Given the description of an element on the screen output the (x, y) to click on. 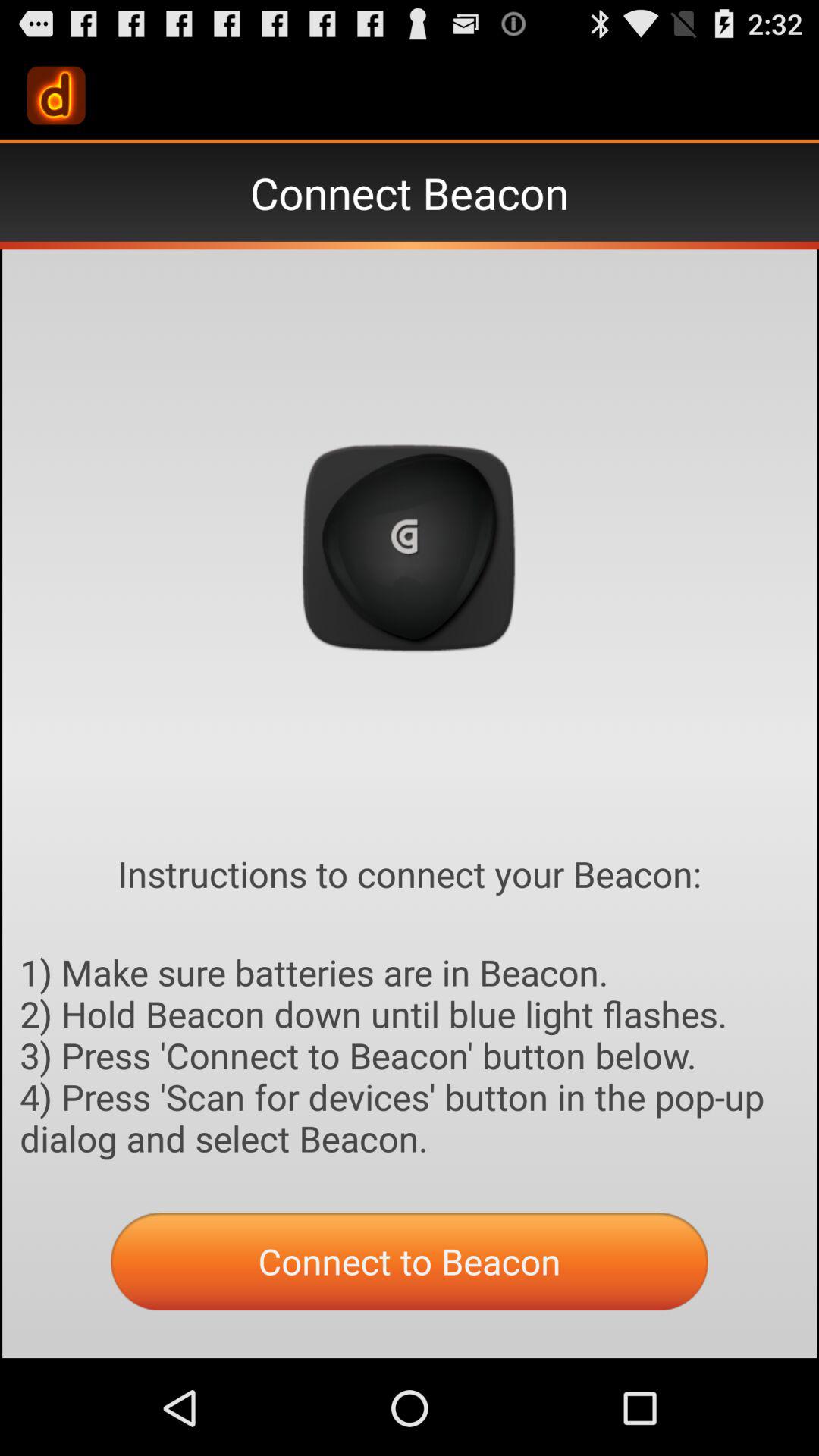
click on the orange button which is at the bottom middle of the page (409, 1261)
